Given the description of an element on the screen output the (x, y) to click on. 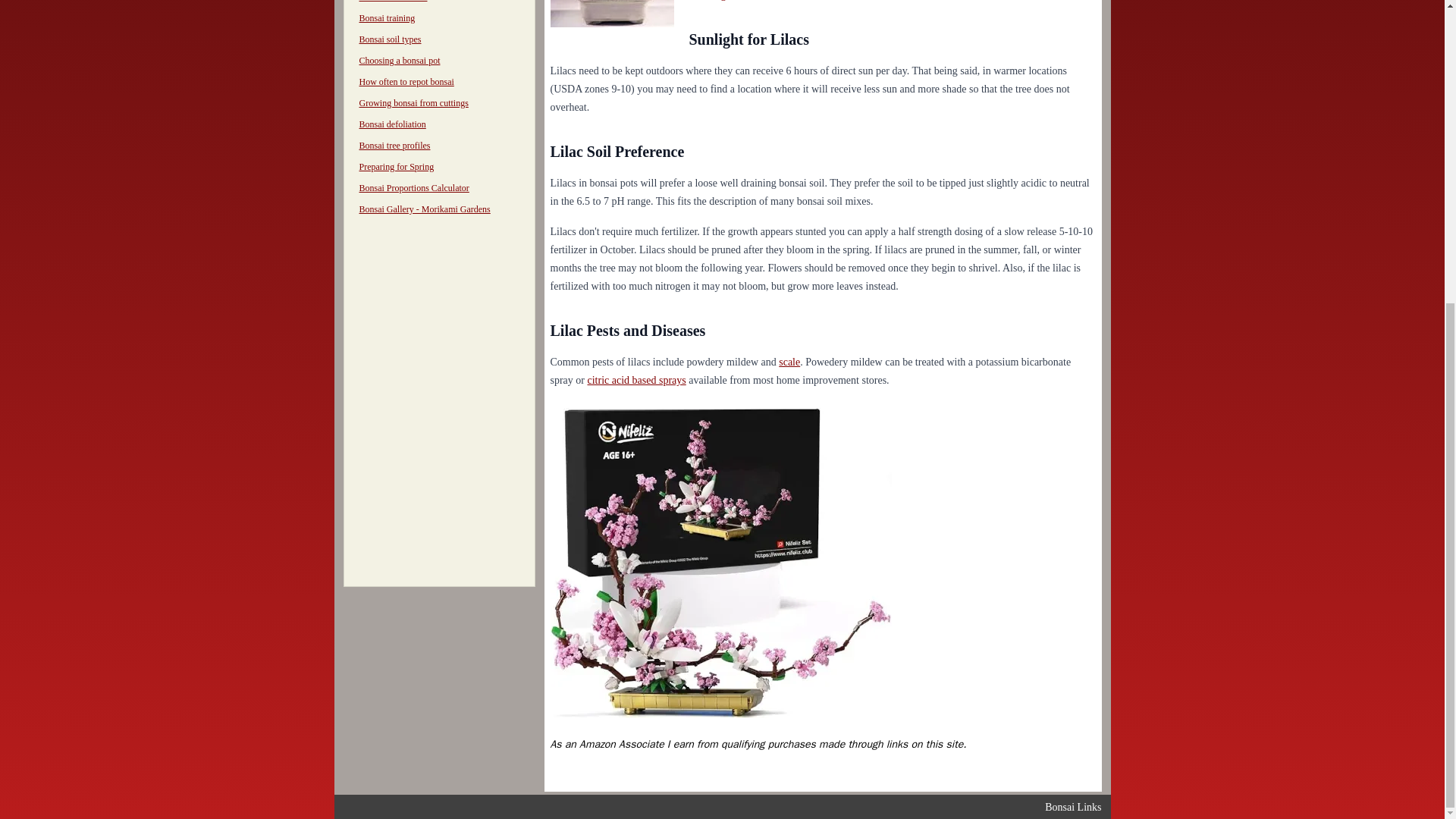
Bonsai Gallery - Morikami Gardens (424, 208)
Diseases and Pests (393, 1)
Bonsai defoliation (392, 123)
Bonsai training (386, 18)
citric acid based sprays (635, 379)
scale (788, 361)
Bonsai Proportions Calculator (413, 187)
Bonsai soil types (390, 39)
Growing bonsai from cuttings (413, 102)
